Given the description of an element on the screen output the (x, y) to click on. 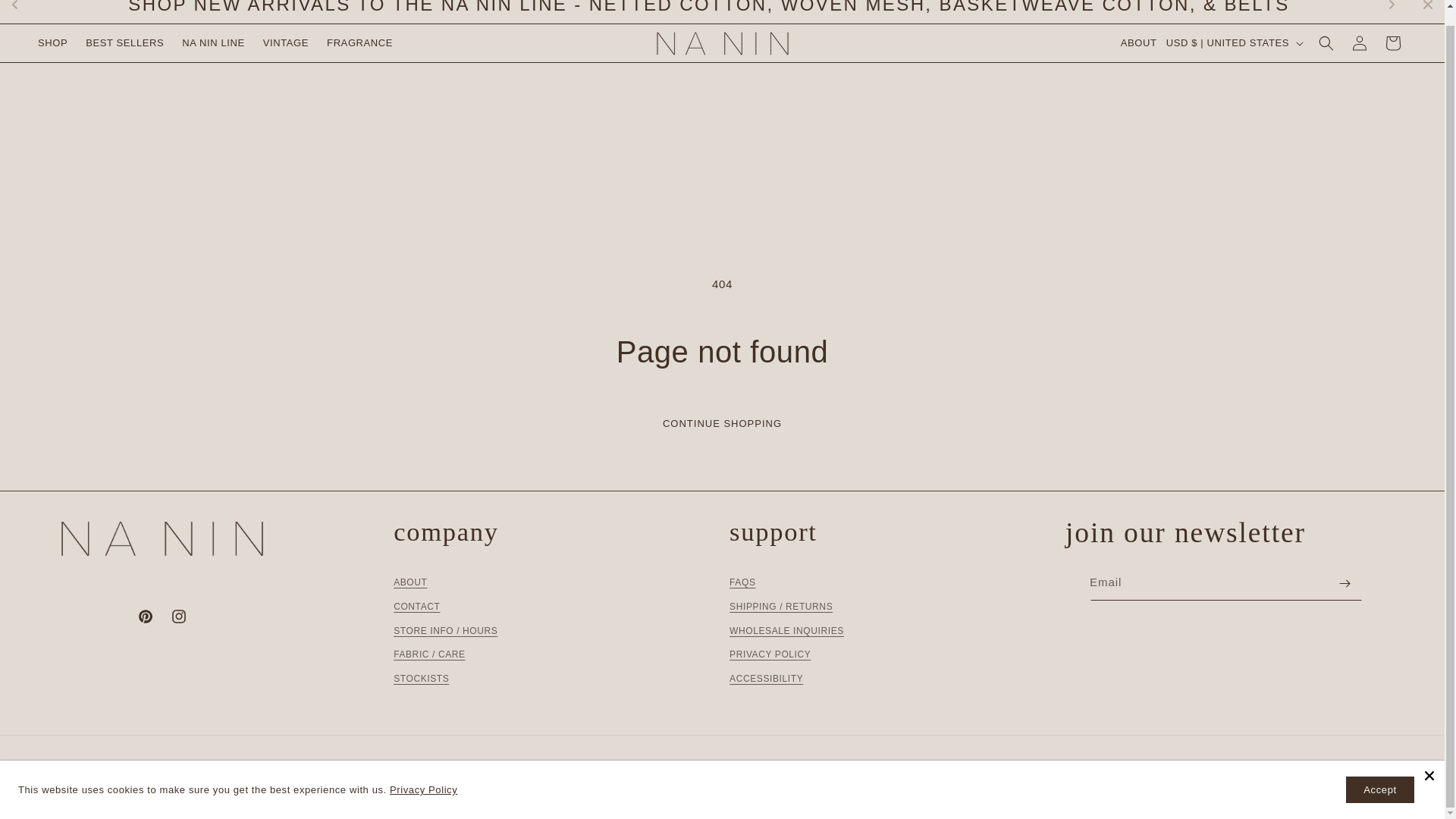
SKIP TO CONTENT (22, 6)
Privacy Policy (423, 774)
